Given the description of an element on the screen output the (x, y) to click on. 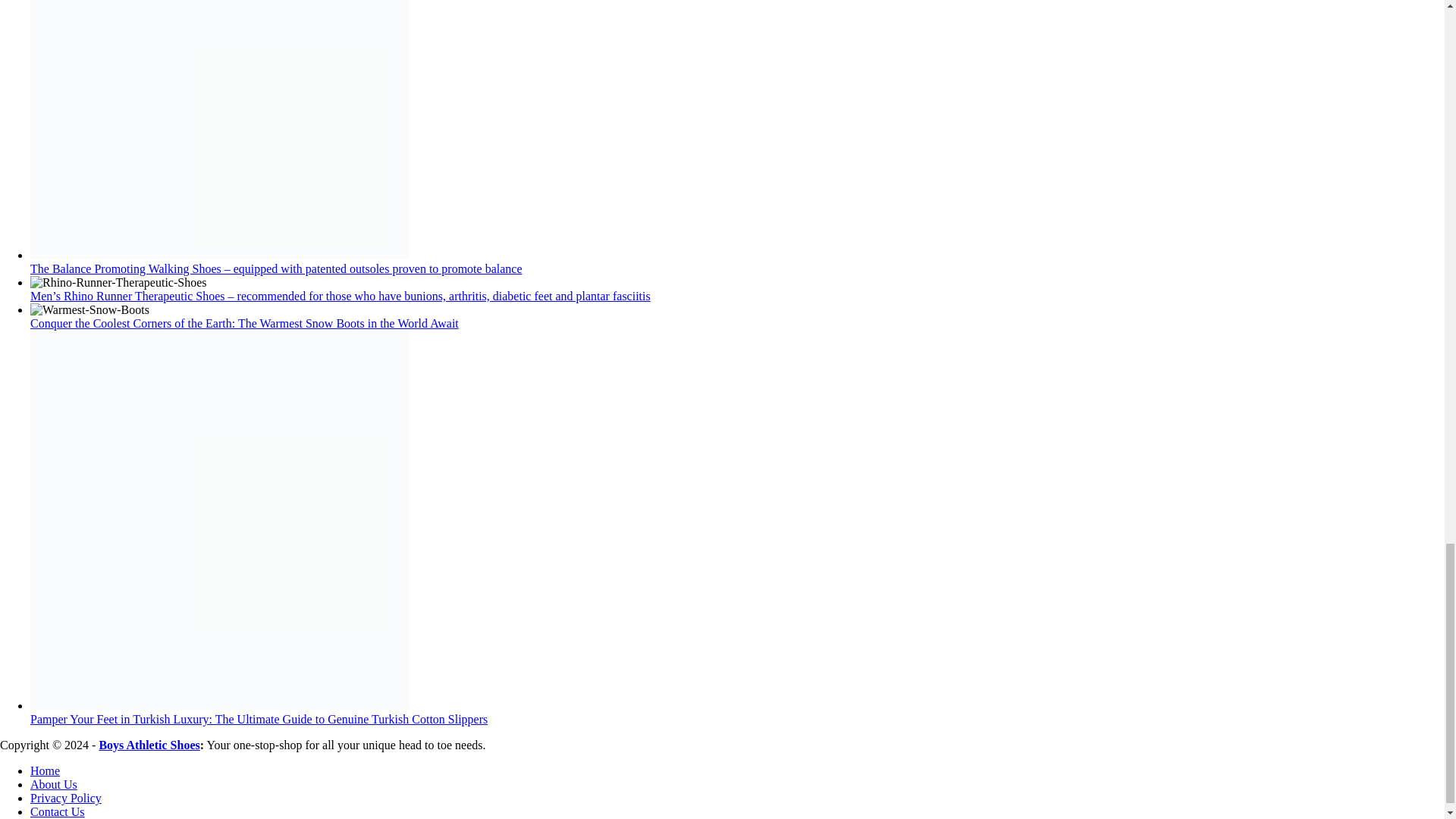
Contact Us (57, 811)
Boys Athletic Shoes (149, 744)
Home (44, 770)
Privacy Policy (65, 797)
About Us (53, 784)
